Given the description of an element on the screen output the (x, y) to click on. 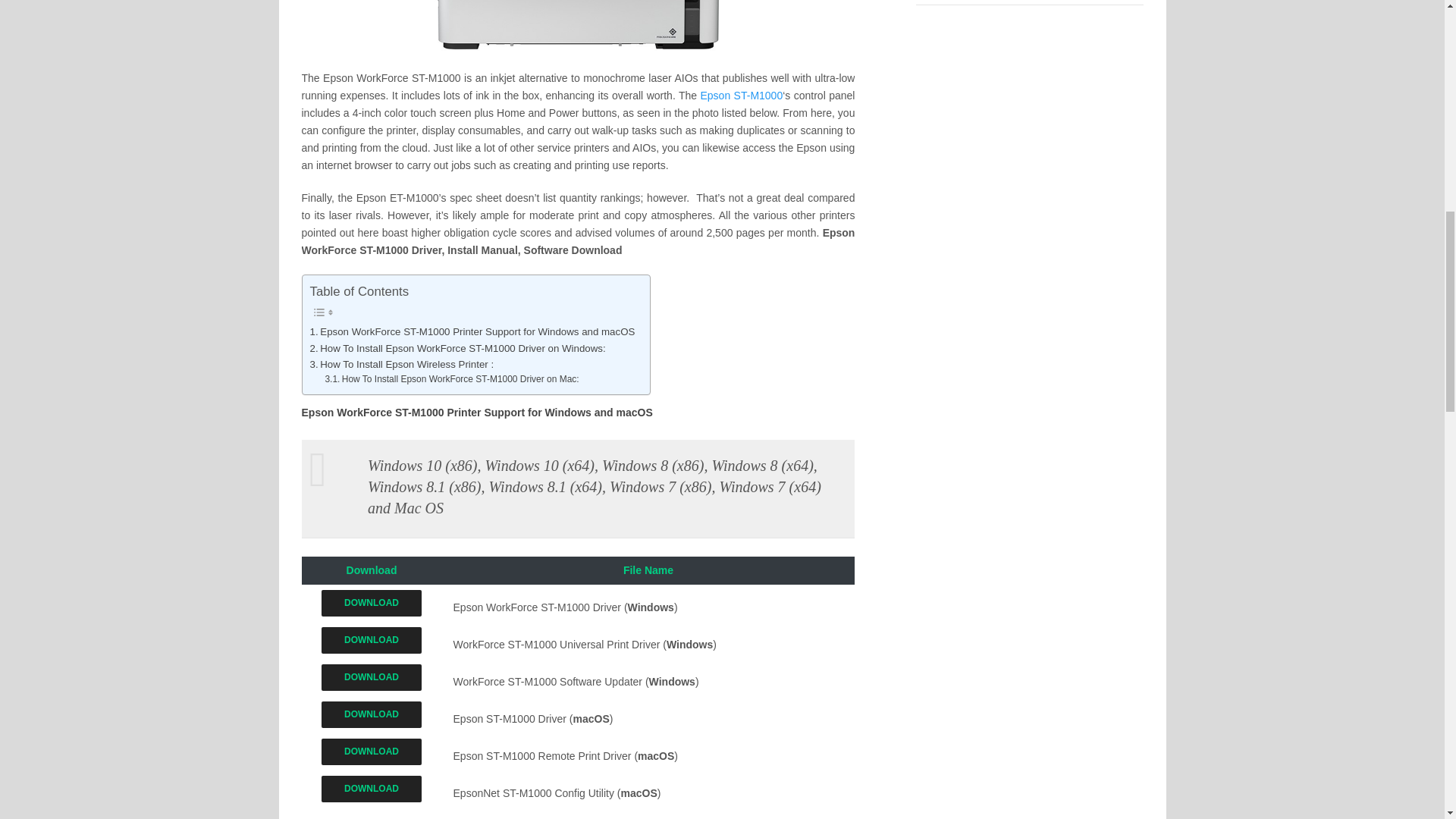
DOWNLOAD (371, 677)
DOWNLOAD (371, 793)
How To Install Epson WorkForce ST-M1000 Driver on Windows: (456, 348)
How To Install Epson WorkForce ST-M1000 Driver on Windows: (456, 348)
Epson ST-M1000 (741, 95)
DOWNLOAD (371, 788)
How To Install Epson WorkForce ST-M1000 Driver on Mac: (451, 379)
How To Install Epson WorkForce ST-M1000 Driver on Mac: (451, 379)
DOWNLOAD (371, 714)
DOWNLOAD (371, 644)
How To Install Epson Wireless Printer : (400, 364)
DOWNLOAD (371, 602)
DOWNLOAD (371, 640)
DOWNLOAD (371, 718)
